Given the description of an element on the screen output the (x, y) to click on. 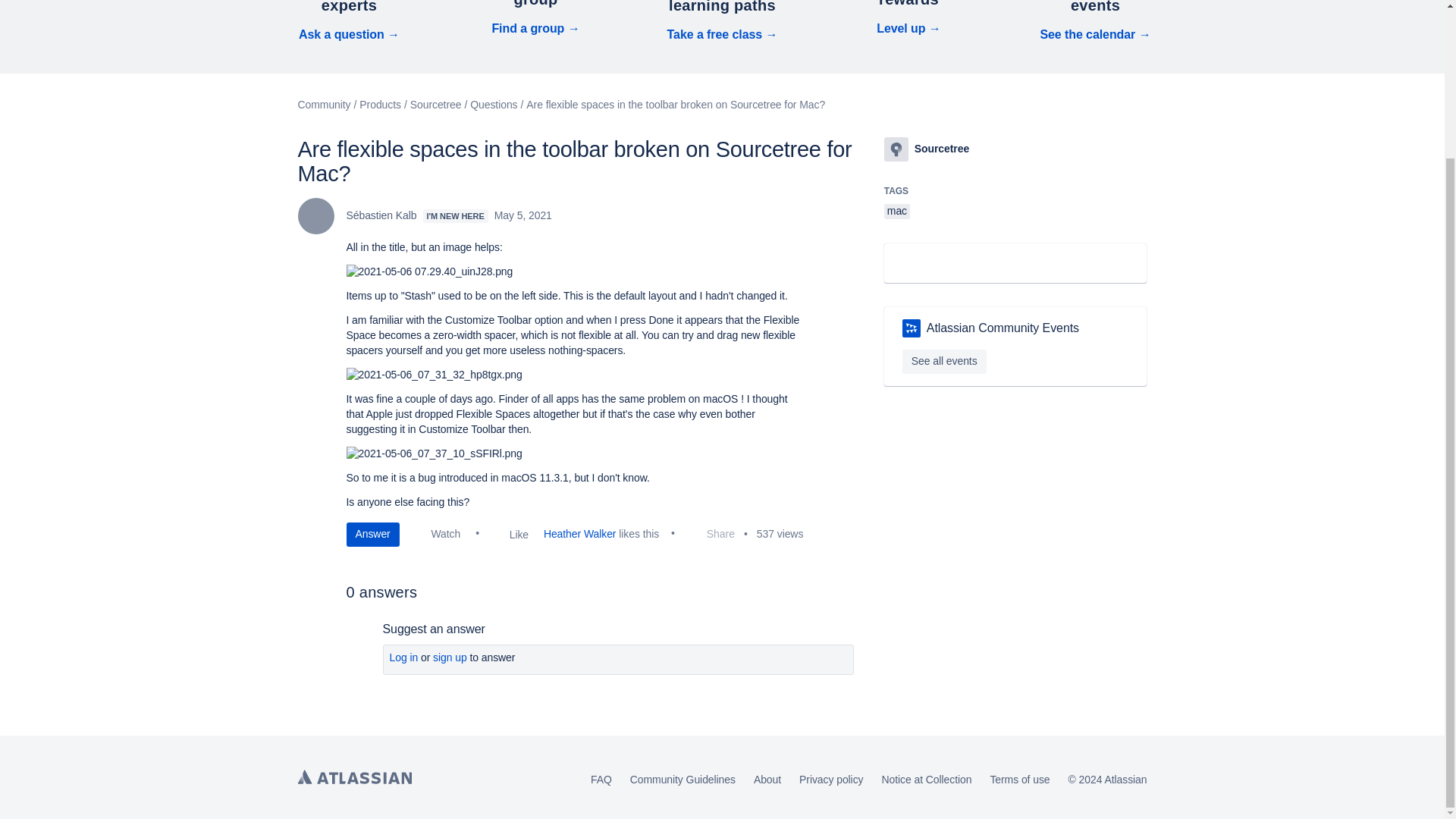
Sourcetree (895, 149)
AUG Leaders (911, 328)
